Given the description of an element on the screen output the (x, y) to click on. 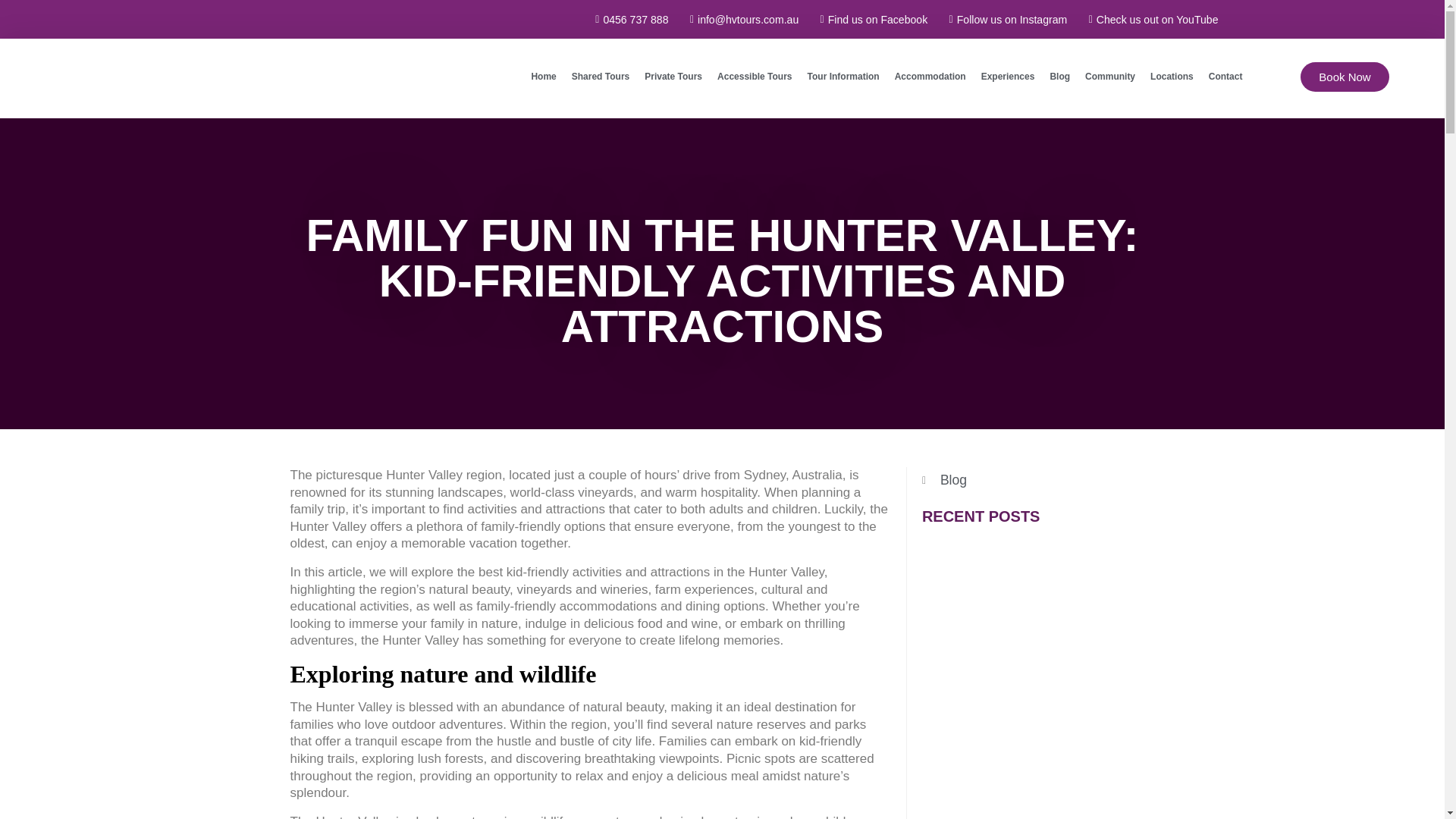
Click Here To Book Online (1344, 76)
Community (1109, 76)
Spanish (253, 20)
Find us on Facebook (868, 18)
Follow us on Instagram (1003, 18)
Portuguese (362, 20)
0456 737 888 (627, 18)
Accommodation (930, 76)
Experiences (1008, 76)
Accessible Tours (754, 76)
French (307, 20)
Hindi (398, 20)
Italian (343, 20)
Russian (416, 20)
Private Tours (673, 76)
